Given the description of an element on the screen output the (x, y) to click on. 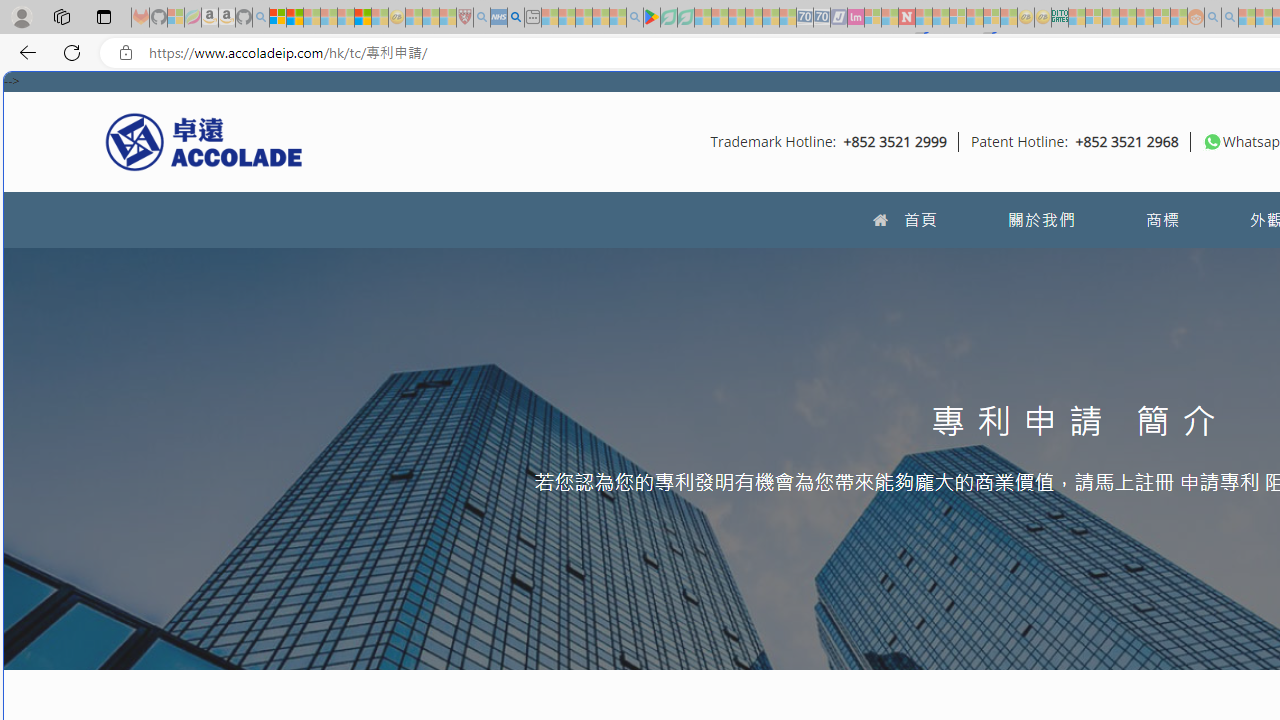
Terms of Use Agreement - Sleeping (668, 17)
utah sues federal government - Search (515, 17)
Jobs - lastminute.com Investor Portal - Sleeping (855, 17)
